Given the description of an element on the screen output the (x, y) to click on. 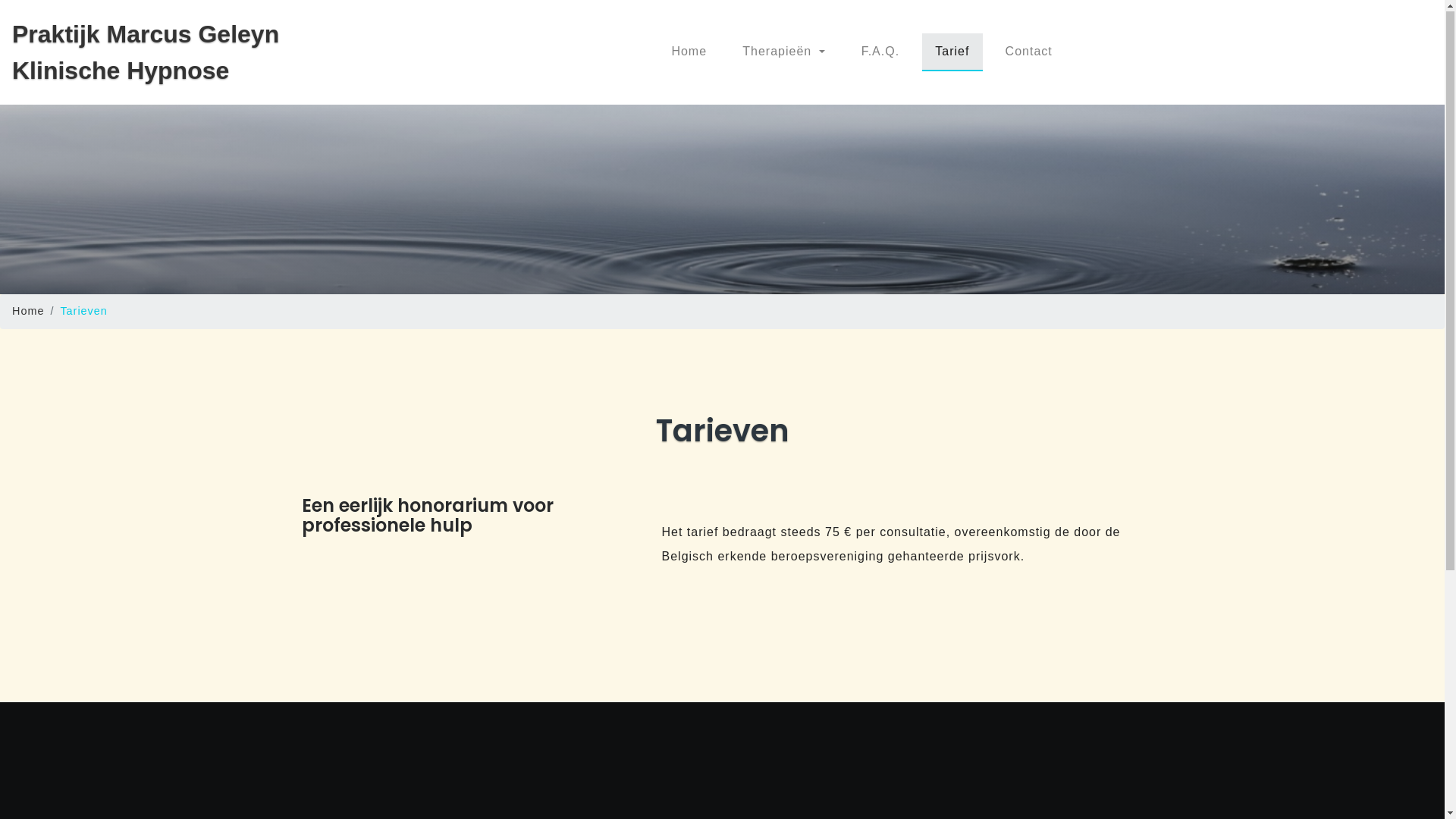
Home Element type: text (27, 311)
Tarief Element type: text (952, 52)
F.A.Q. Element type: text (880, 52)
Praktijk Marcus Geleyn
Klinische Hypnose Element type: text (145, 52)
Contact Element type: text (1028, 52)
Home
(current) Element type: text (689, 52)
